Given the description of an element on the screen output the (x, y) to click on. 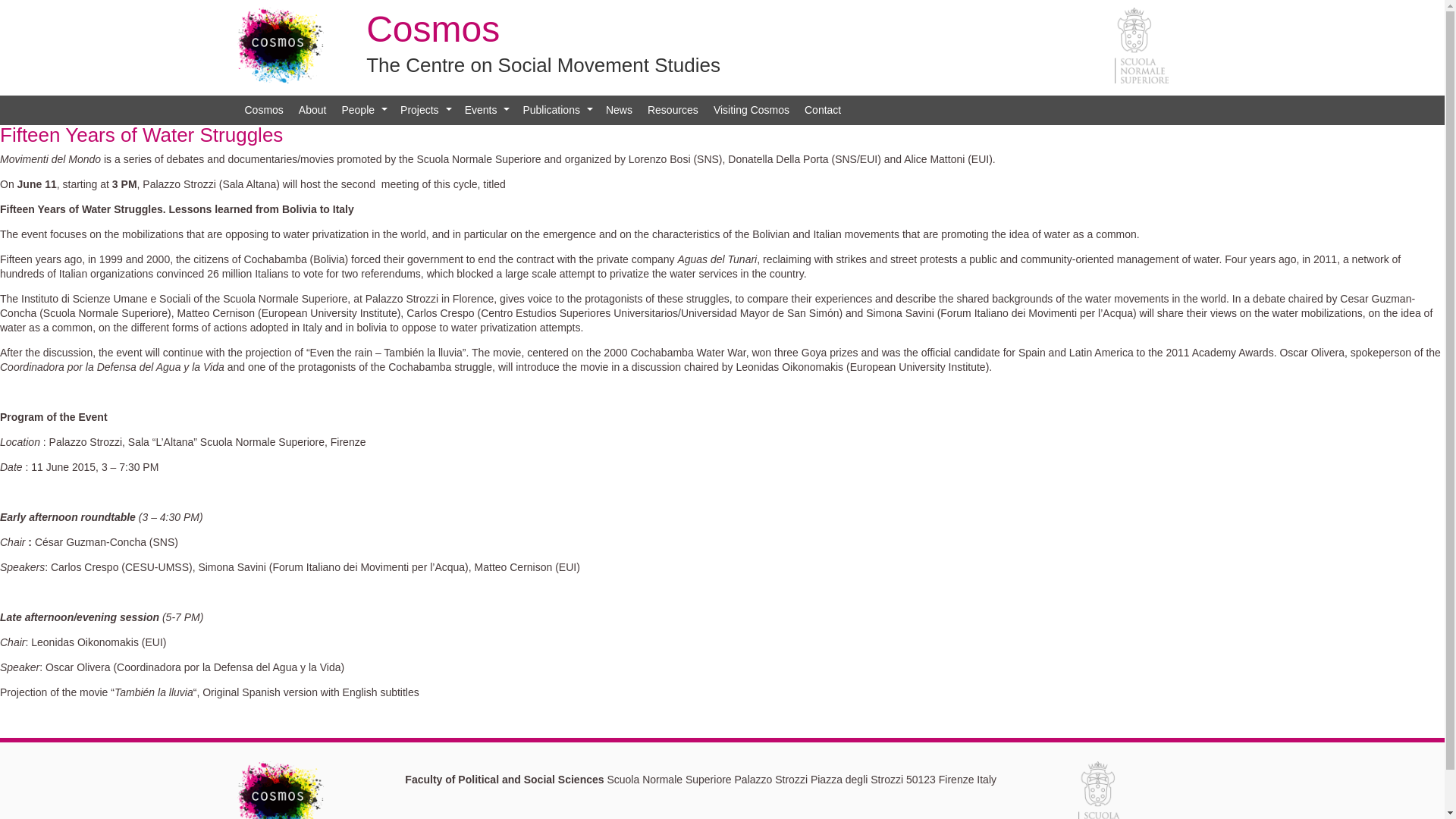
News (619, 110)
Resources (673, 110)
About (312, 110)
Contact (822, 110)
Visiting Cosmos (751, 110)
Cosmos (262, 110)
